Given the description of an element on the screen output the (x, y) to click on. 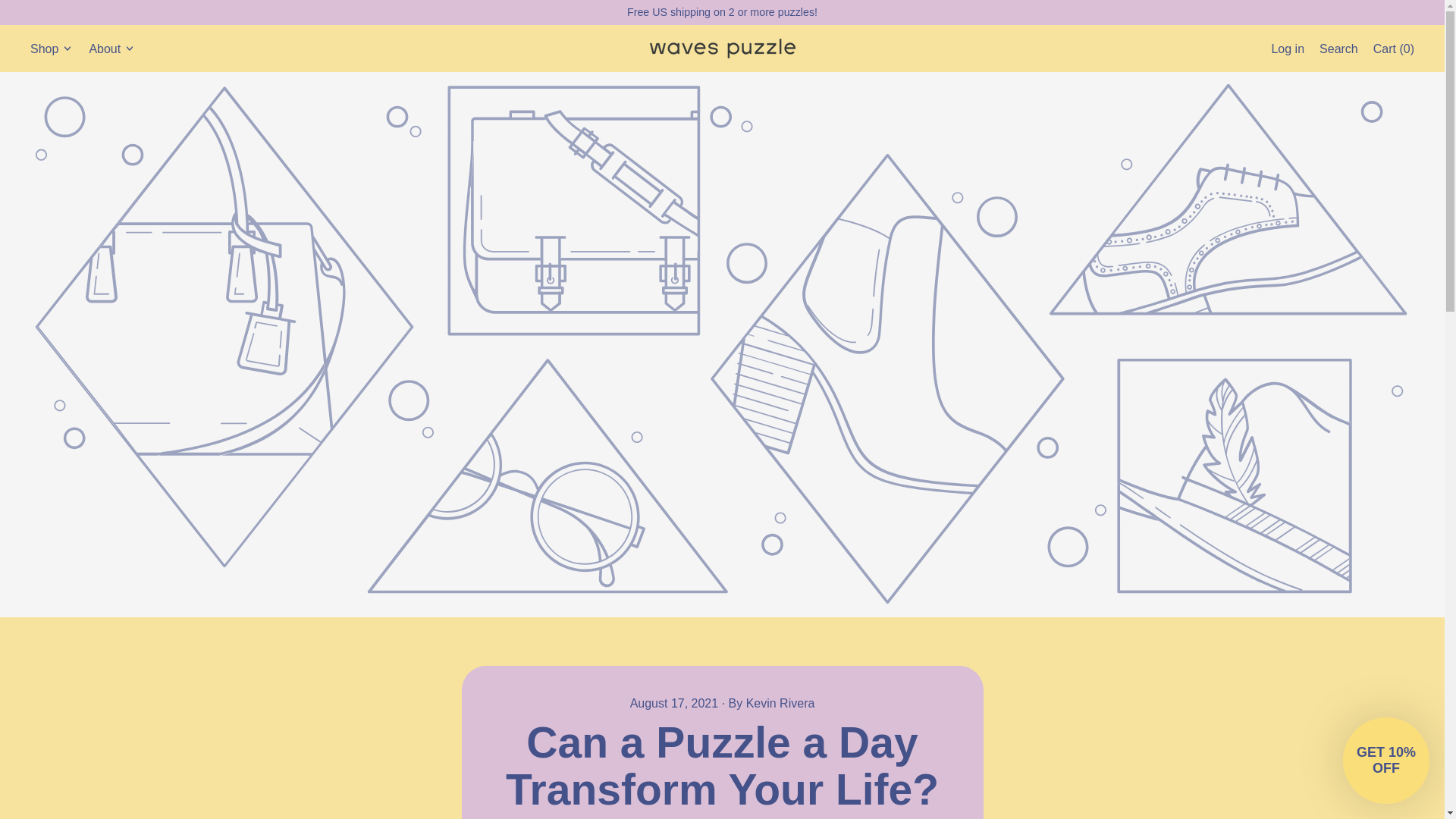
Shop (1338, 47)
Log in (52, 47)
About (1287, 47)
